Given the description of an element on the screen output the (x, y) to click on. 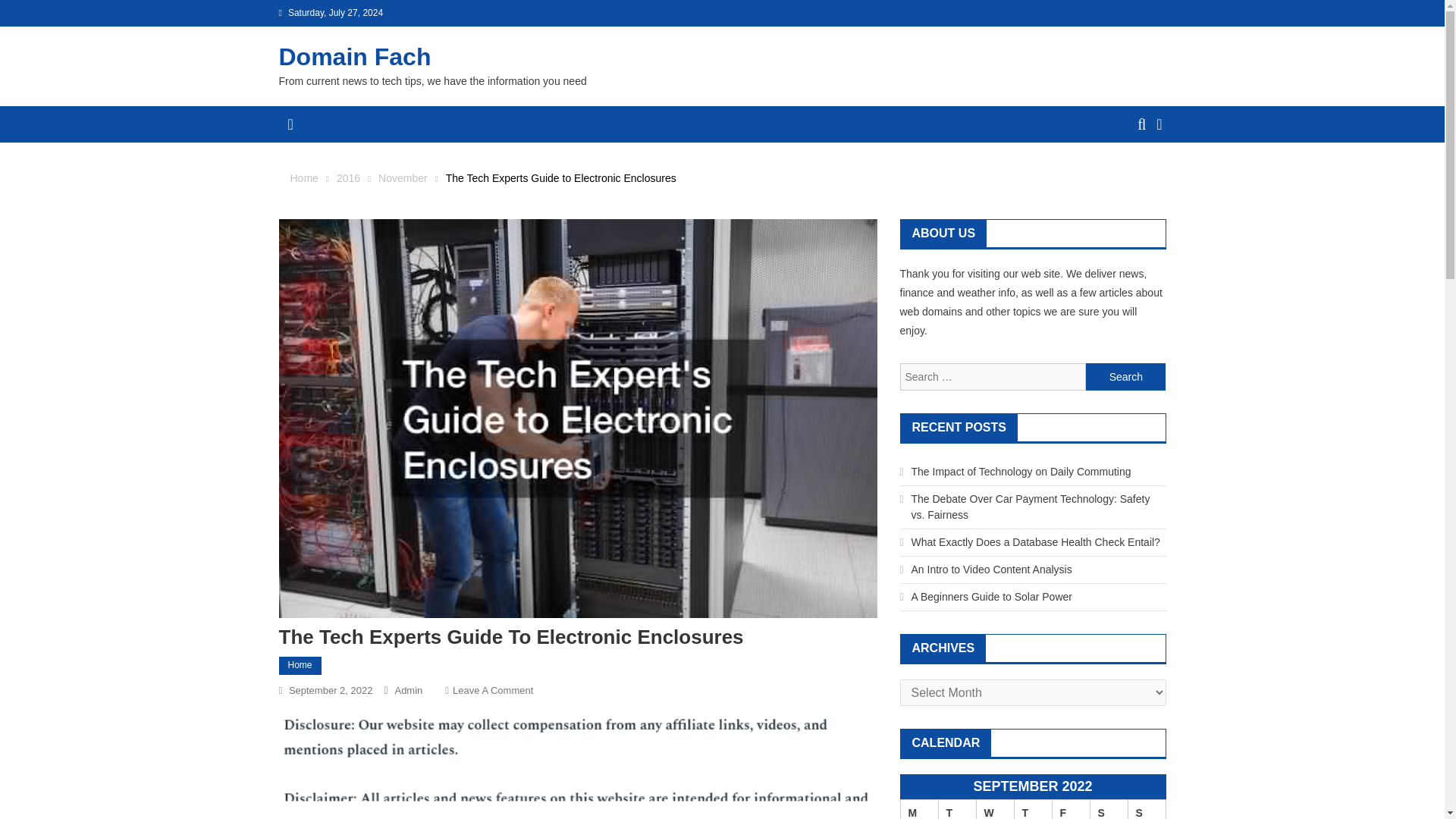
Monday (918, 809)
Search (1133, 180)
The Impact of Technology on Daily Commuting (1021, 471)
An Intro to Video Content Analysis (991, 569)
Search (1126, 376)
Sunday (1146, 809)
Thursday (1032, 809)
Search (1126, 376)
Saturday (1107, 809)
Wednesday (994, 809)
The Debate Over Car Payment Technology: Safety vs. Fairness (1030, 506)
Domain Fach (354, 56)
Home (300, 665)
Home (303, 177)
